Given the description of an element on the screen output the (x, y) to click on. 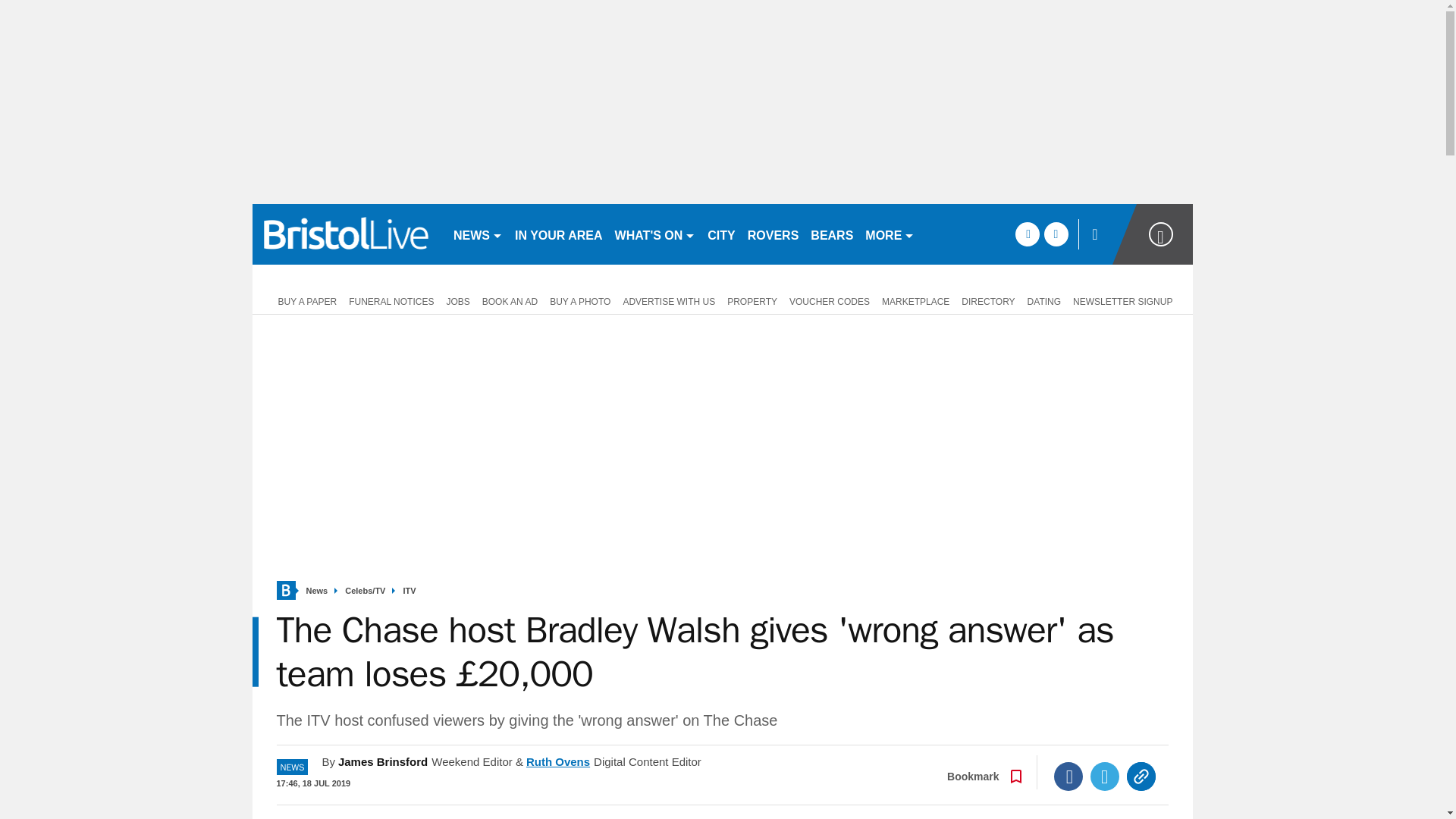
ROVERS (773, 233)
twitter (1055, 233)
facebook (1026, 233)
Facebook (1068, 776)
bristolpost (345, 233)
BEARS (832, 233)
NEWS (477, 233)
MORE (889, 233)
Twitter (1104, 776)
WHAT'S ON (654, 233)
